Given the description of an element on the screen output the (x, y) to click on. 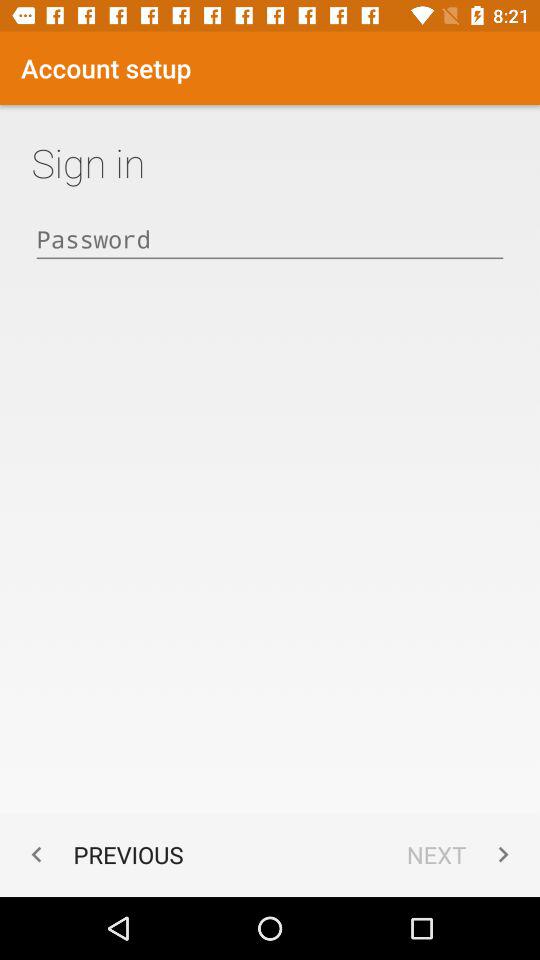
press app next to the previous (462, 854)
